Given the description of an element on the screen output the (x, y) to click on. 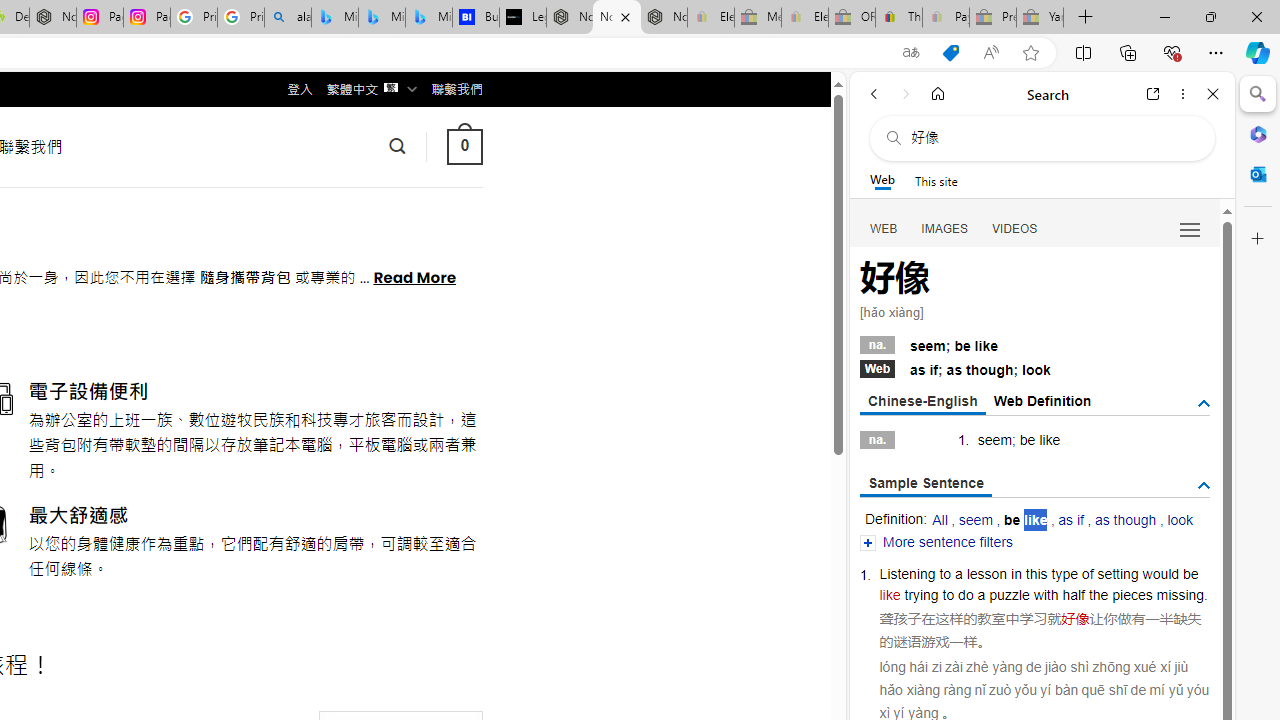
would (1160, 573)
Press Room - eBay Inc. - Sleeping (993, 17)
Microsoft Bing Travel - Flights from Hong Kong to Bangkok (335, 17)
Payments Terms of Use | eBay.com - Sleeping (945, 17)
though (989, 370)
Microsoft Bing Travel - Shangri-La Hotel Bangkok (428, 17)
